Given the description of an element on the screen output the (x, y) to click on. 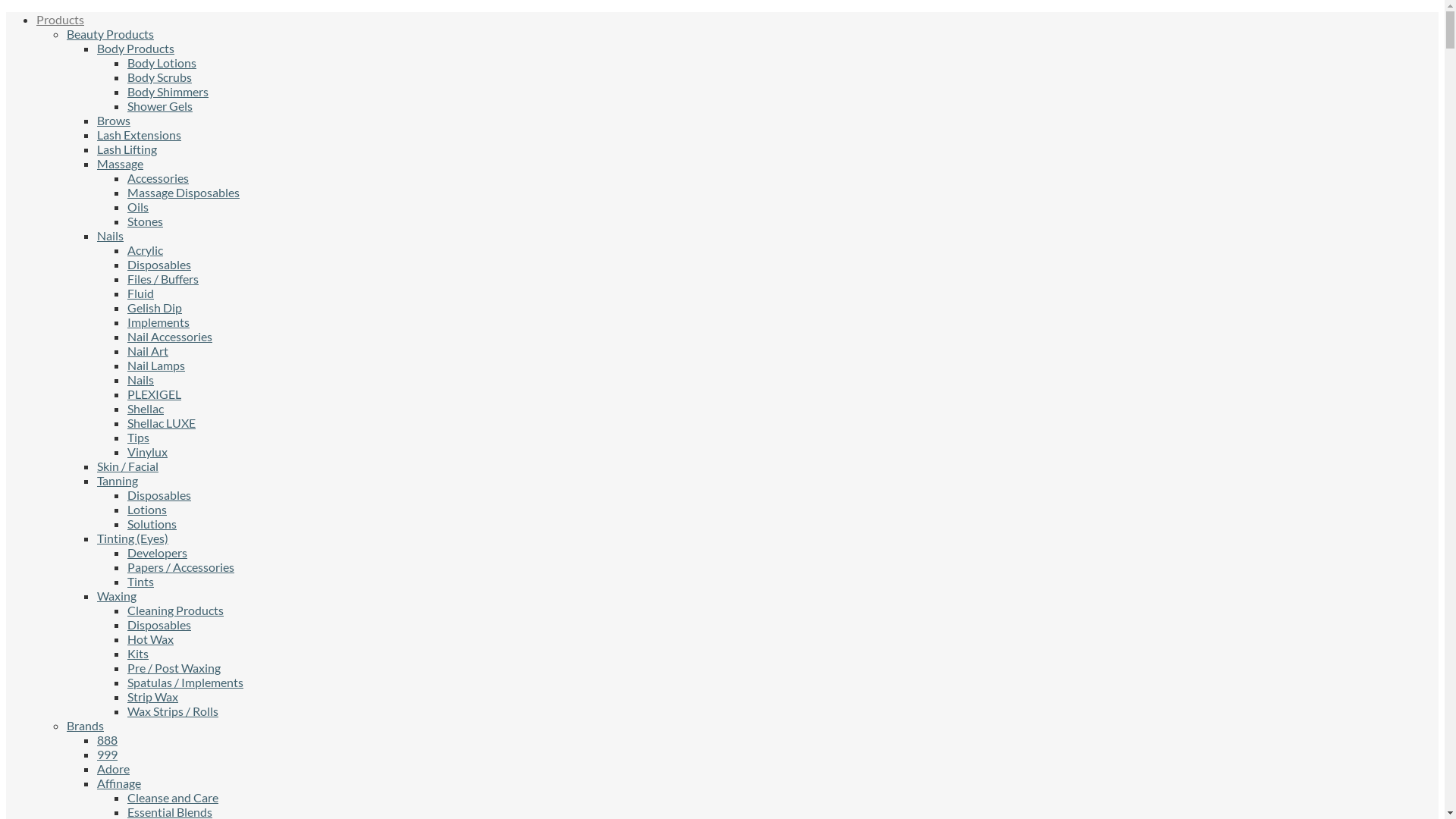
Kits Element type: text (137, 653)
999 Element type: text (107, 753)
PLEXIGEL Element type: text (154, 393)
Stones Element type: text (145, 220)
Affinage Element type: text (119, 782)
Gelish Dip Element type: text (154, 307)
Nails Element type: text (110, 235)
Vinylux Element type: text (147, 451)
Brands Element type: text (84, 725)
Tips Element type: text (138, 436)
Skin / Facial Element type: text (127, 465)
Waxing Element type: text (116, 595)
Nail Accessories Element type: text (169, 336)
Brows Element type: text (113, 119)
Wax Strips / Rolls Element type: text (172, 710)
Disposables Element type: text (159, 264)
Solutions Element type: text (151, 523)
Products Element type: text (60, 19)
Tinting (Eyes) Element type: text (132, 537)
Shellac Element type: text (145, 408)
Massage Disposables Element type: text (183, 192)
Nails Element type: text (140, 379)
Developers Element type: text (157, 552)
Nail Lamps Element type: text (156, 364)
Disposables Element type: text (159, 624)
Shower Gels Element type: text (159, 105)
Cleaning Products Element type: text (175, 609)
Disposables Element type: text (159, 494)
Body Shimmers Element type: text (167, 91)
Lotions Element type: text (146, 509)
Hot Wax Element type: text (150, 638)
Oils Element type: text (137, 206)
Tints Element type: text (140, 581)
Body Lotions Element type: text (161, 62)
Fluid Element type: text (140, 292)
Body Scrubs Element type: text (159, 76)
Papers / Accessories Element type: text (180, 566)
Adore Element type: text (113, 768)
888 Element type: text (107, 739)
Shellac LUXE Element type: text (161, 422)
Nail Art Element type: text (147, 350)
Spatulas / Implements Element type: text (185, 681)
Files / Buffers Element type: text (162, 278)
Massage Element type: text (120, 163)
Beauty Products Element type: text (109, 33)
Tanning Element type: text (117, 480)
Pre / Post Waxing Element type: text (173, 667)
Body Products Element type: text (135, 47)
Lash Extensions Element type: text (139, 134)
Implements Element type: text (158, 321)
Lash Lifting Element type: text (126, 148)
Acrylic Element type: text (145, 249)
Cleanse and Care Element type: text (172, 797)
Strip Wax Element type: text (152, 696)
Accessories Element type: text (157, 177)
